Given the description of an element on the screen output the (x, y) to click on. 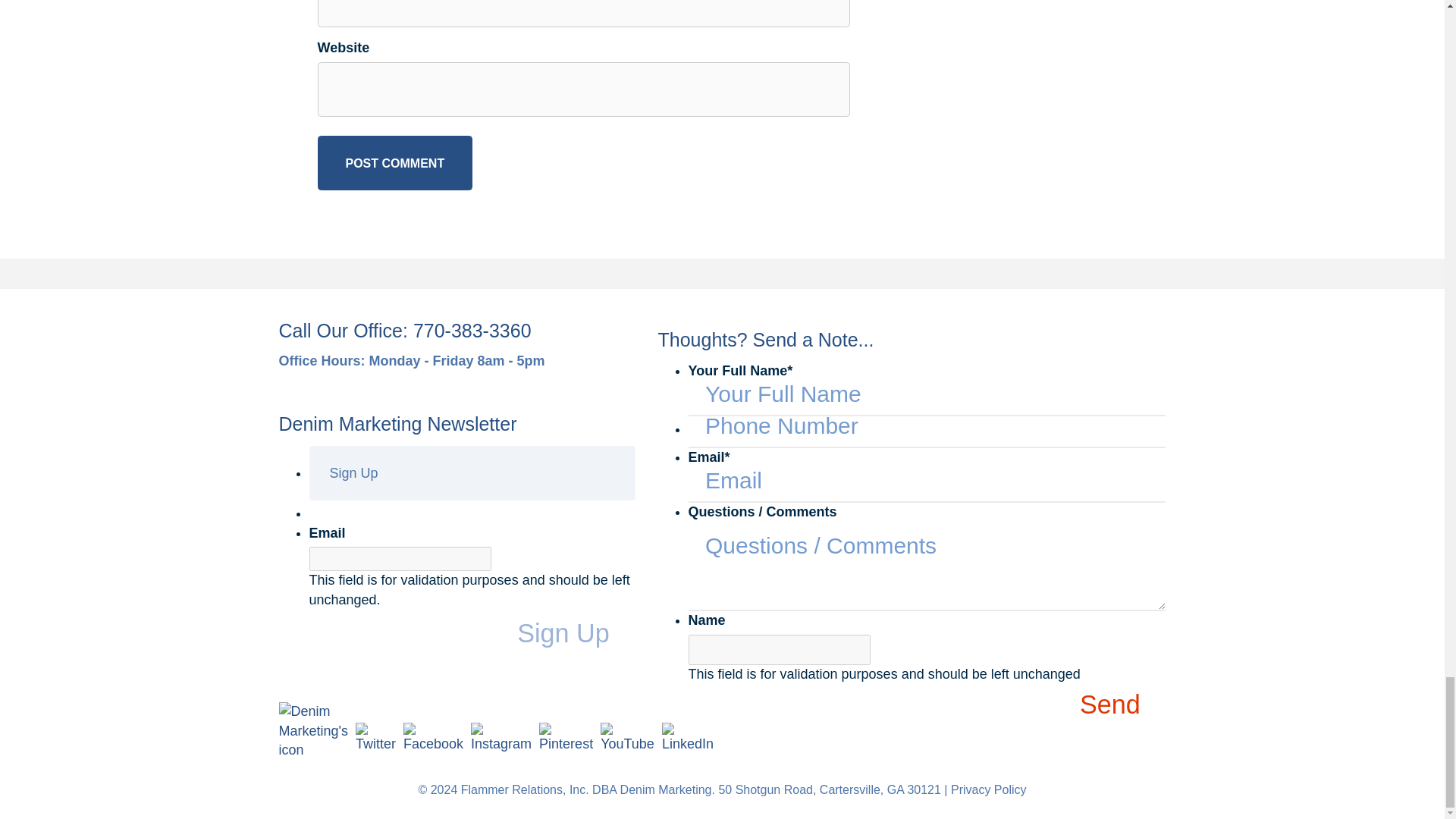
Post Comment (394, 162)
Sign Up (575, 633)
Post Comment (394, 162)
770-383-3360 (472, 330)
